Given the description of an element on the screen output the (x, y) to click on. 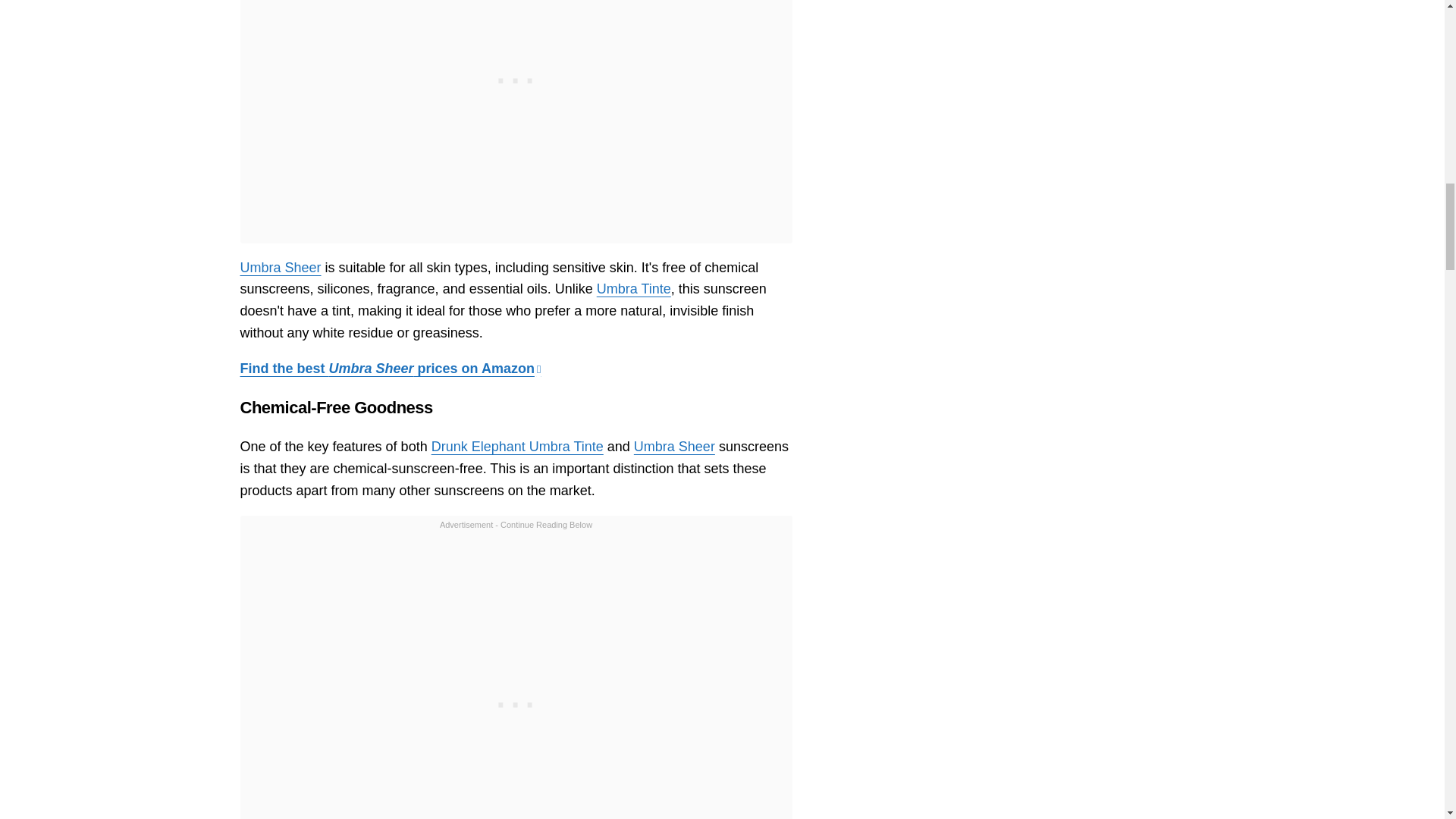
Drunk Elephant Umbra Tinte (517, 446)
Find the best Umbra Sheer prices on Amazon (390, 368)
Umbra Sheer (673, 446)
Umbra Tinte (633, 288)
Umbra Sheer (280, 267)
